Given the description of an element on the screen output the (x, y) to click on. 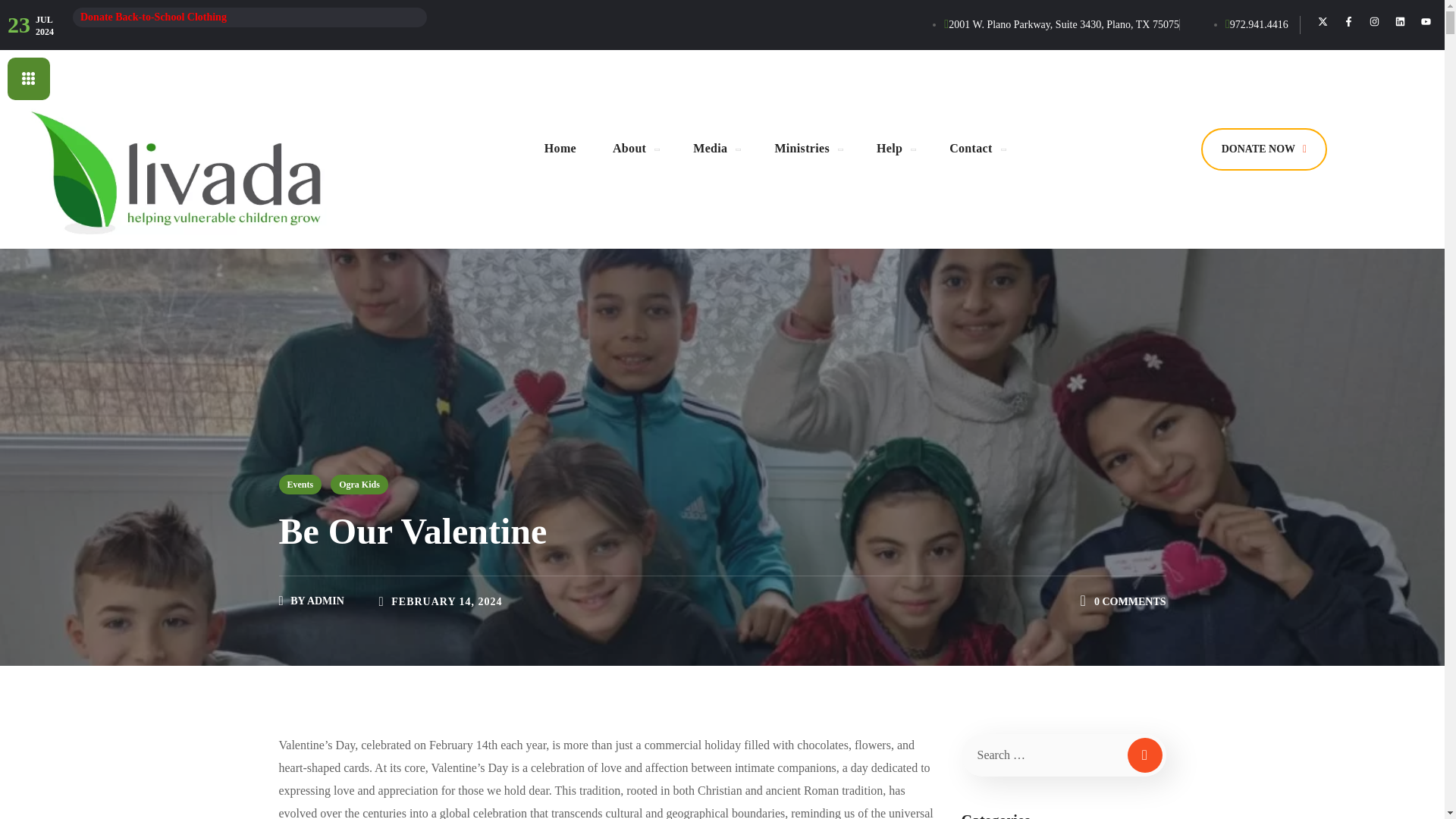
Leave a reply (1130, 601)
972.941.4416 (1256, 24)
2001 W. Plano Parkway, Suite 3430, Plano, TX 75075 (1061, 24)
Instagram (1374, 21)
YouTube (1426, 21)
X (1322, 21)
Donate Back-to-School Clothing (153, 16)
LinkedIn (1399, 21)
Ministries (807, 148)
About (634, 148)
DONATE NOW (1263, 148)
Help (895, 148)
Home (559, 148)
Facebook (1348, 21)
Contact (975, 148)
